Given the description of an element on the screen output the (x, y) to click on. 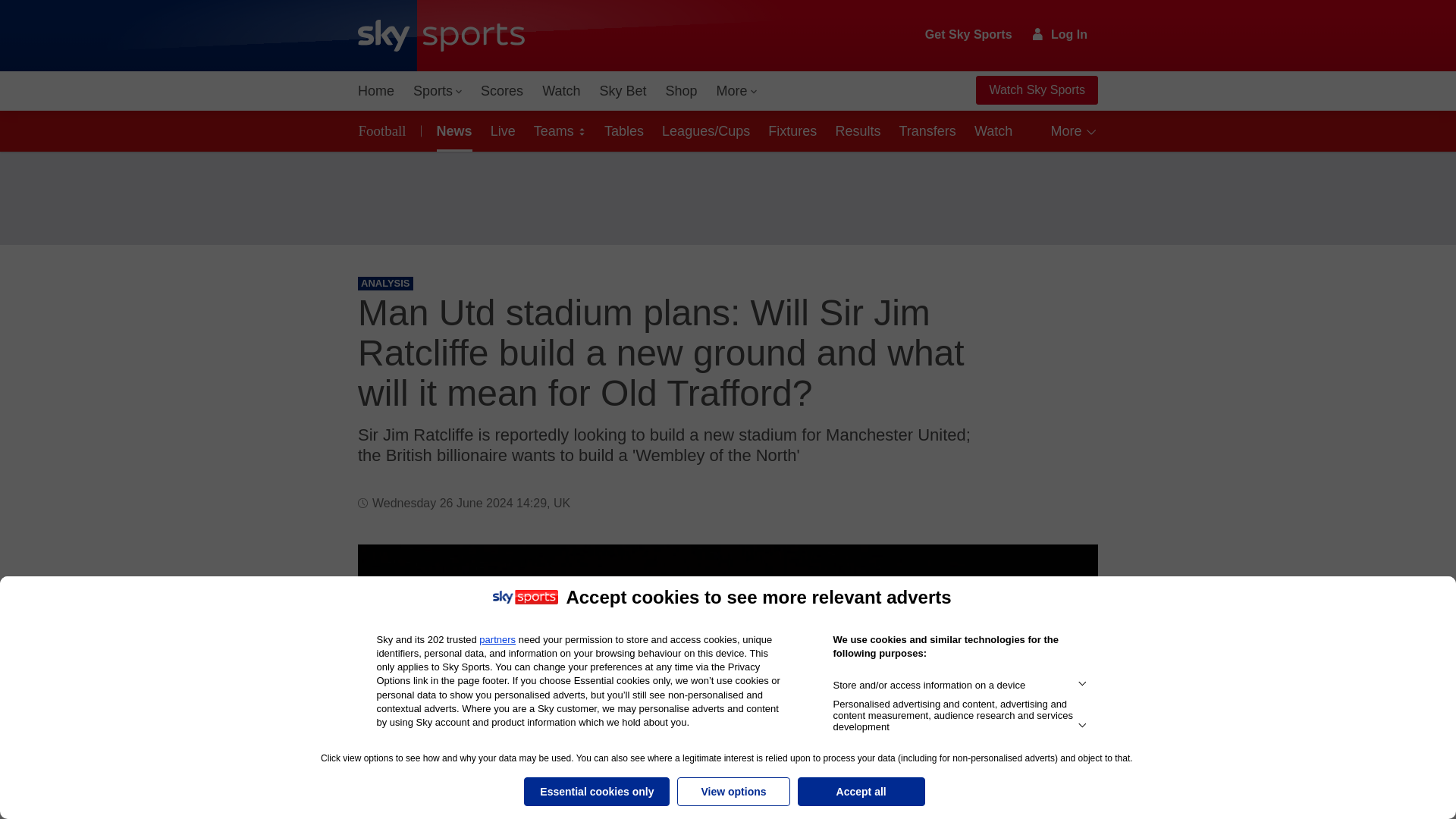
Get Sky Sports (968, 34)
Share (1067, 574)
Home (375, 91)
Sky Bet (622, 91)
Scores (502, 91)
Football (385, 130)
Watch (561, 91)
Shop (681, 91)
News (451, 130)
More (736, 91)
Watch Sky Sports (1036, 90)
Log In (1060, 33)
Sports (437, 91)
